Given the description of an element on the screen output the (x, y) to click on. 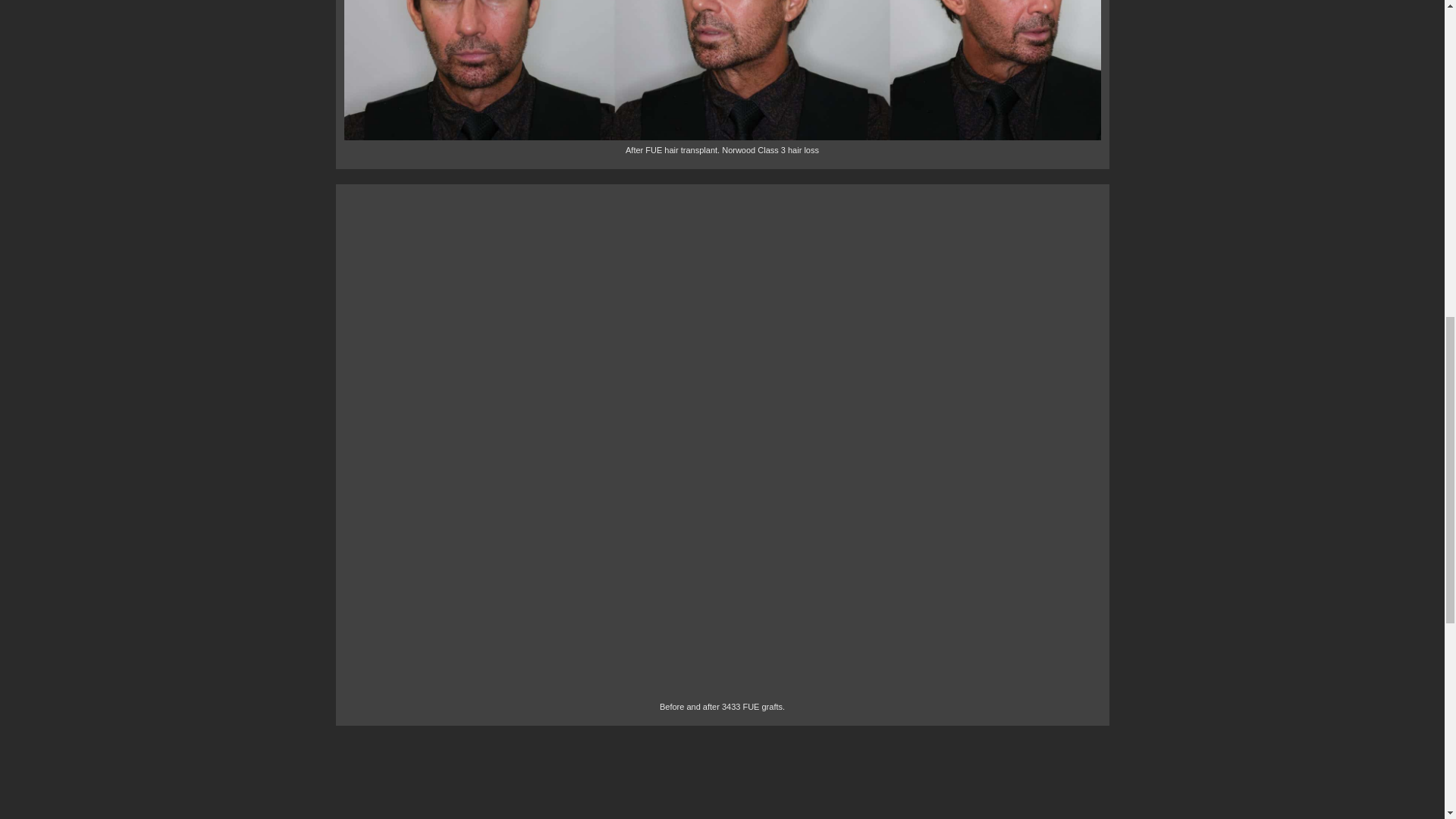
YouTube video player (660, 780)
